Given the description of an element on the screen output the (x, y) to click on. 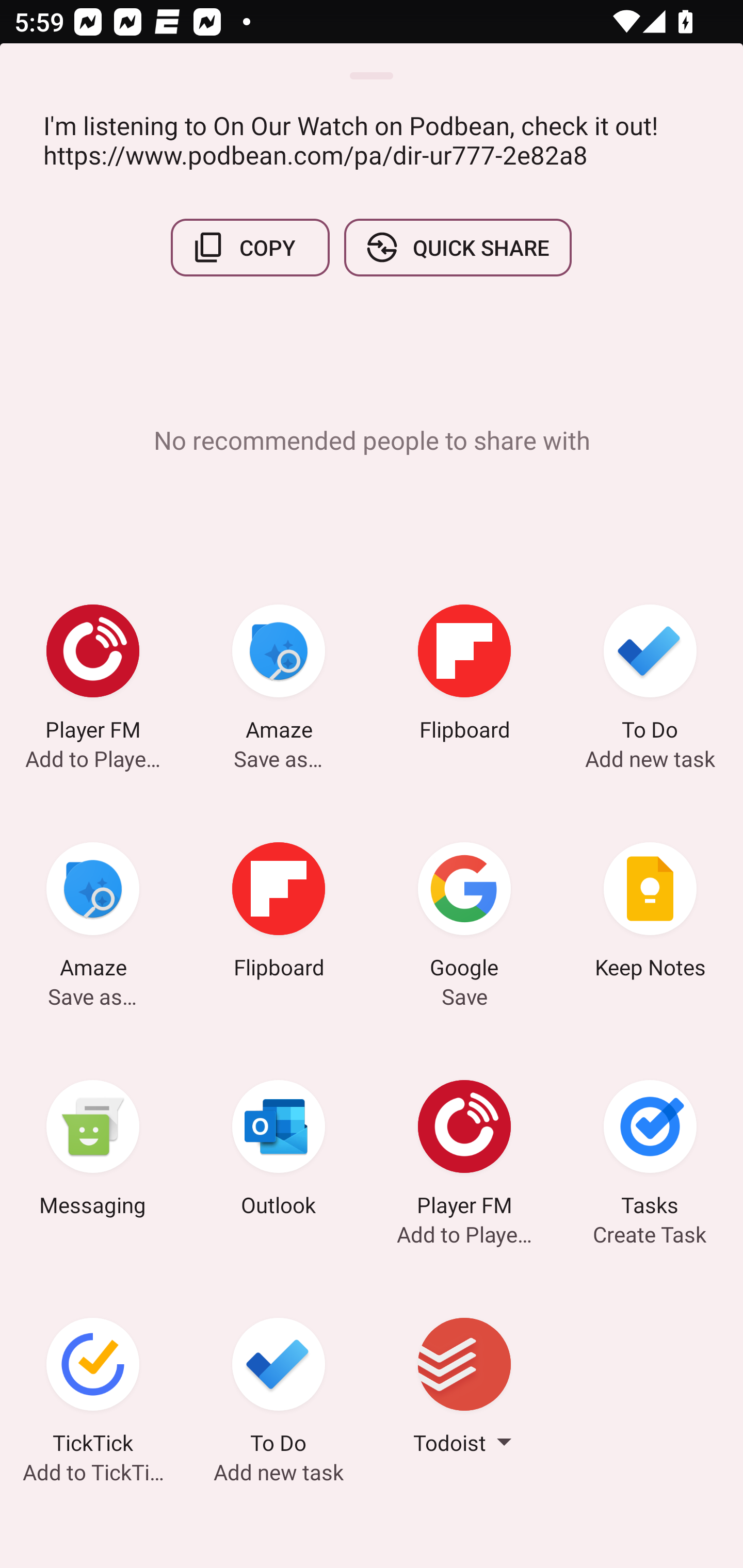
COPY (249, 247)
QUICK SHARE (457, 247)
Player FM Add to Player FM (92, 675)
Amaze Save as… (278, 675)
Flipboard (464, 675)
To Do Add new task (650, 675)
Amaze Save as… (92, 913)
Flipboard (278, 913)
Google Save (464, 913)
Keep Notes (650, 913)
Messaging (92, 1151)
Outlook (278, 1151)
Player FM Add to Player FM (464, 1151)
Tasks Create Task (650, 1151)
TickTick Add to TickTick (92, 1389)
To Do Add new task (278, 1389)
Todoist (464, 1389)
